Given the description of an element on the screen output the (x, y) to click on. 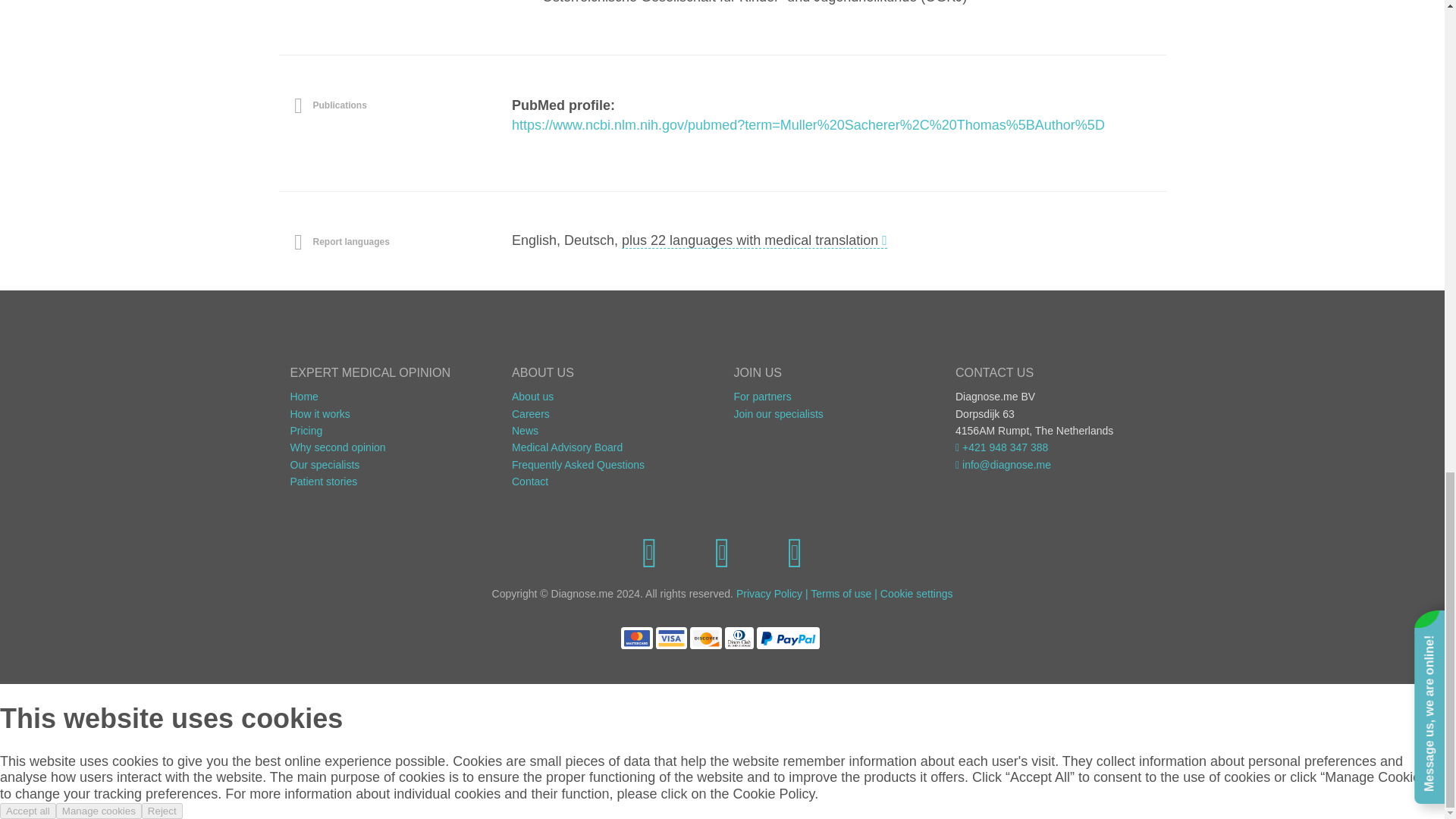
Join our specialists (778, 413)
For partners (762, 396)
Careers (531, 413)
Patient stories (322, 481)
Frequently Asked Questions (578, 464)
How it works (319, 413)
Our specialists (324, 464)
LinkedIn (794, 551)
News (525, 430)
Home (303, 396)
